Given the description of an element on the screen output the (x, y) to click on. 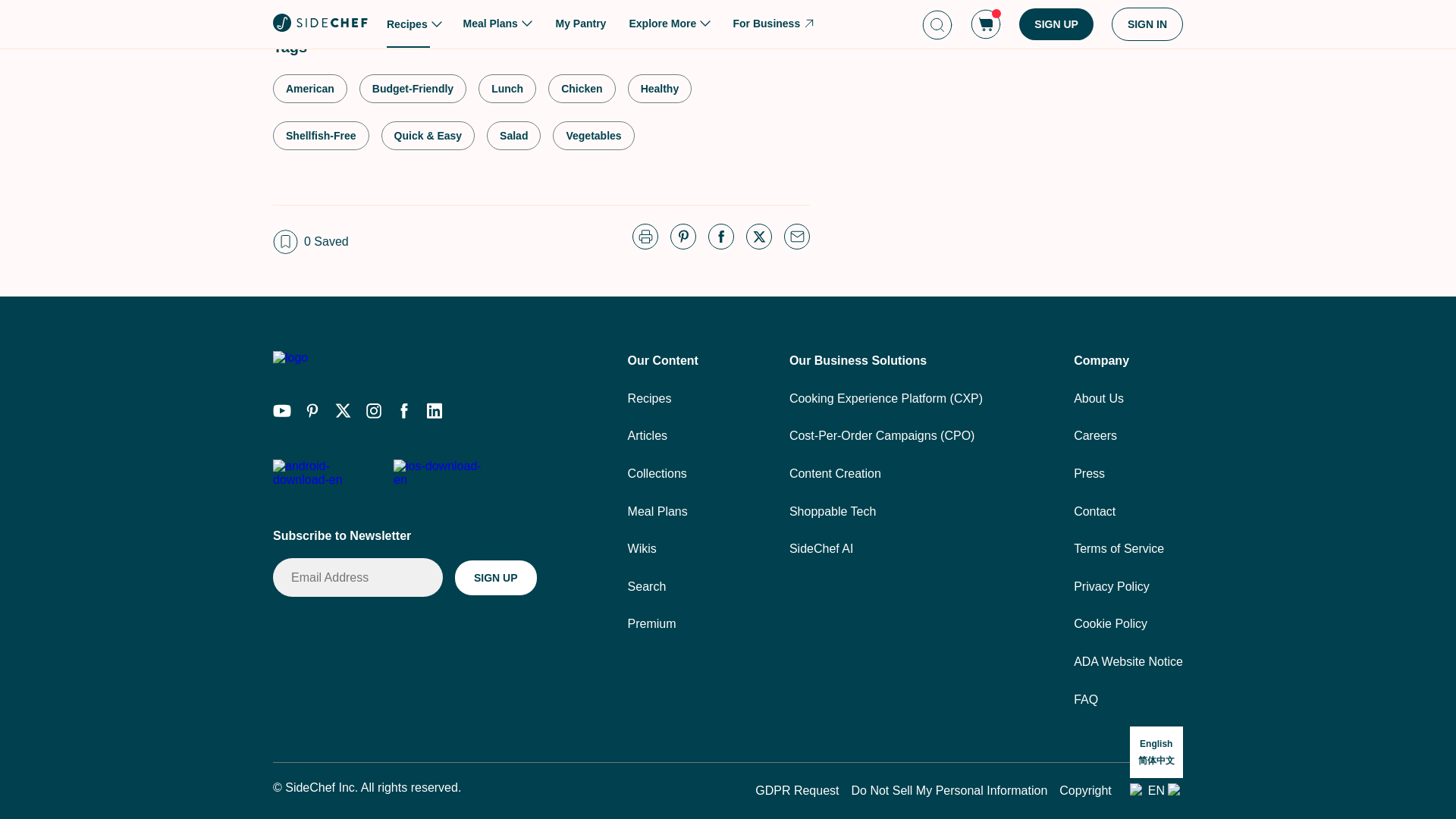
SIGN UP (495, 577)
